Given the description of an element on the screen output the (x, y) to click on. 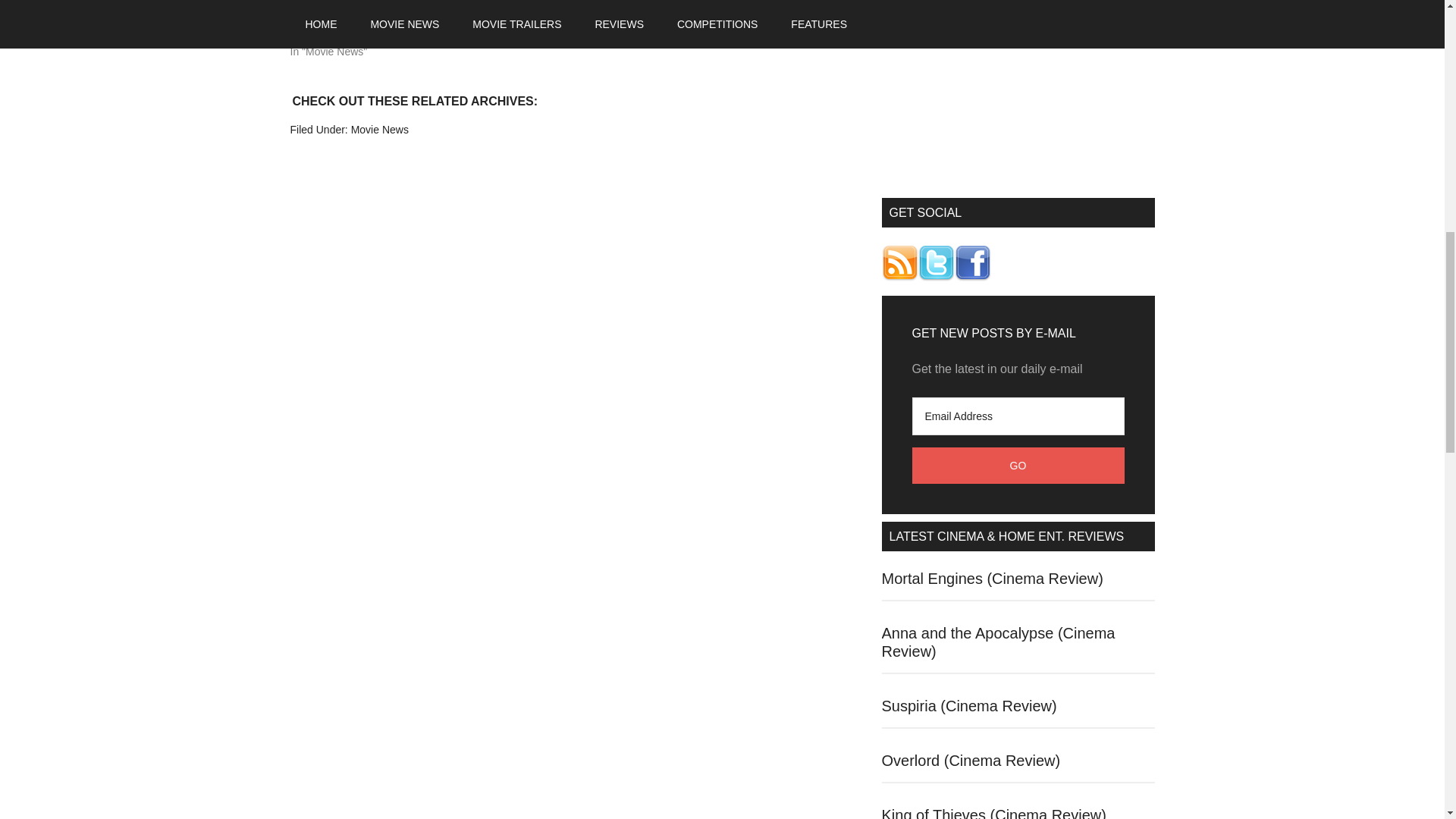
Movie News (379, 129)
3rd party ad content (1017, 95)
Go (1017, 465)
Go (1017, 465)
